Given the description of an element on the screen output the (x, y) to click on. 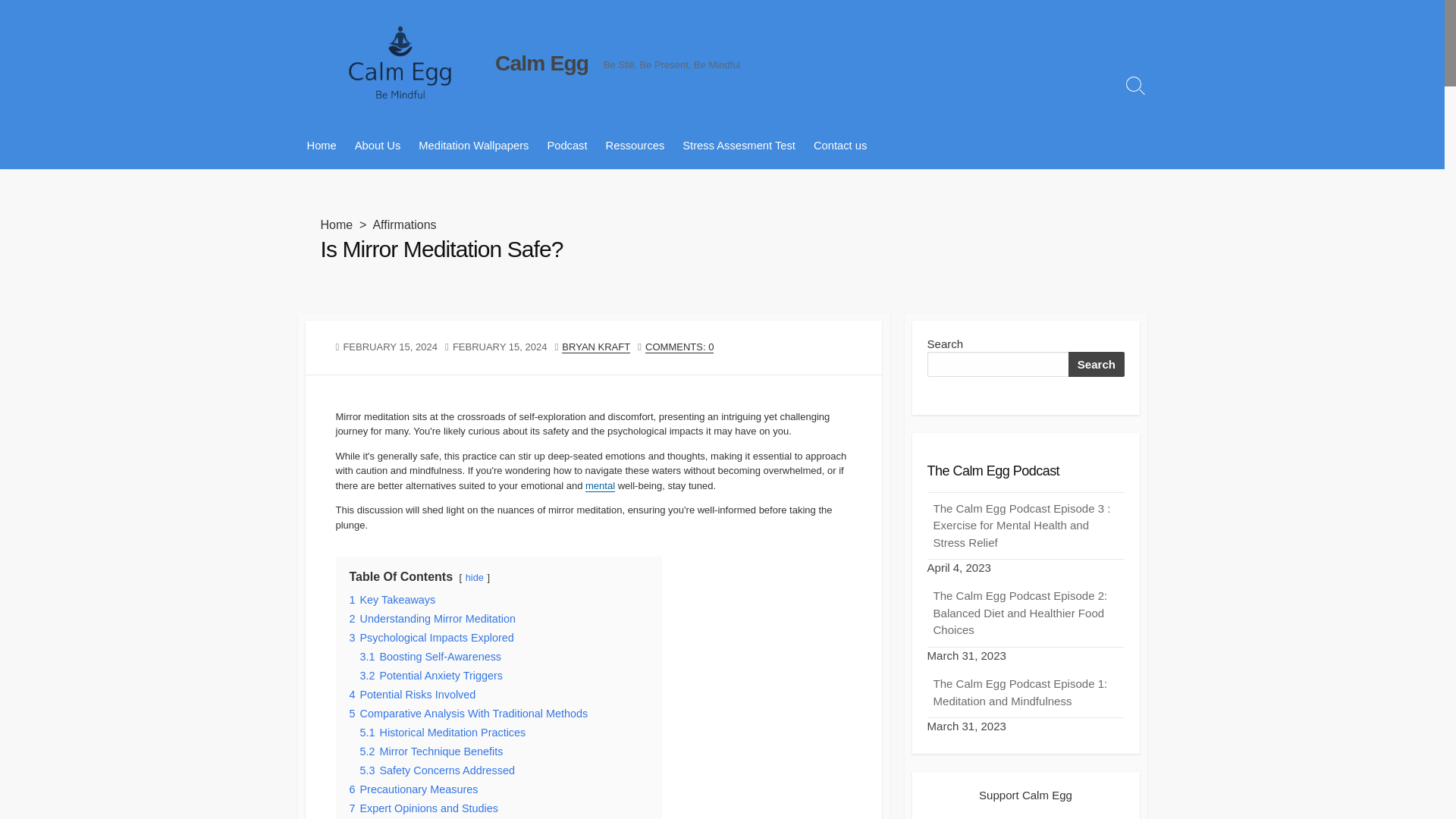
5.1 Historical Meditation Practices (442, 732)
Calm Egg (541, 63)
Podcast (566, 145)
5 Comparative Analysis With Traditional Methods (468, 713)
3 Psychological Impacts Explored (431, 637)
SAT (738, 145)
5.3 Safety Concerns Addressed (436, 770)
1 Key Takeaways (392, 599)
Affirmations (403, 224)
About Us (378, 145)
7 Expert Opinions and Studies (423, 808)
COMMENTS: 0 (679, 346)
mental (599, 485)
Posts by Bryan Kraft (596, 346)
BRYAN KRAFT (596, 346)
